Given the description of an element on the screen output the (x, y) to click on. 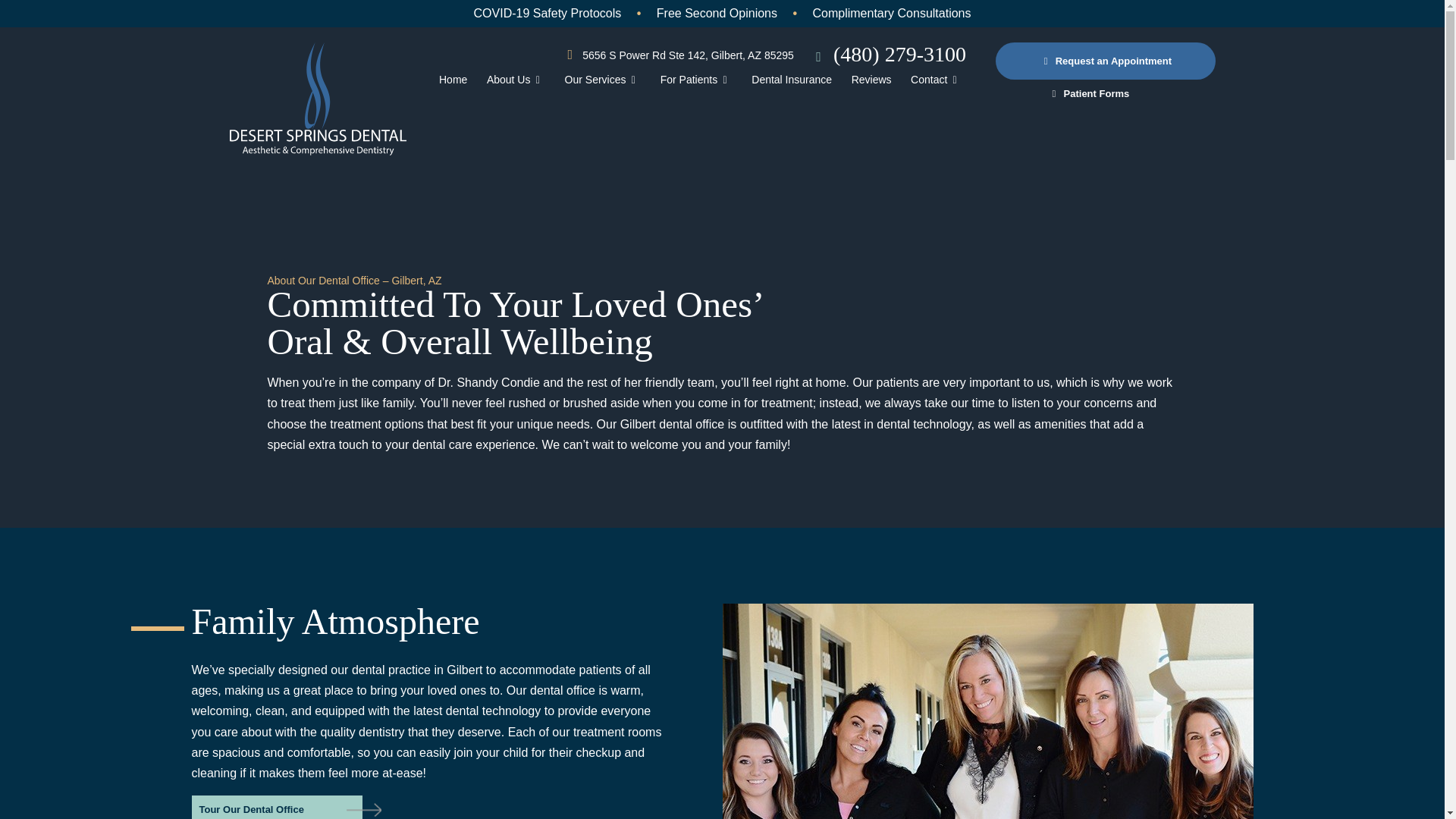
Dentist Gilbert, AZ (452, 79)
COVID-19 Safety Protocols (547, 12)
About Us (515, 79)
Free Second Opinions (716, 12)
About Us (515, 79)
Our Services (602, 79)
Home (452, 79)
Complimentary Consultations (891, 12)
Dental Services (602, 79)
5656 S Power Rd Ste 142, Gilbert, AZ 85295 (676, 55)
